Given the description of an element on the screen output the (x, y) to click on. 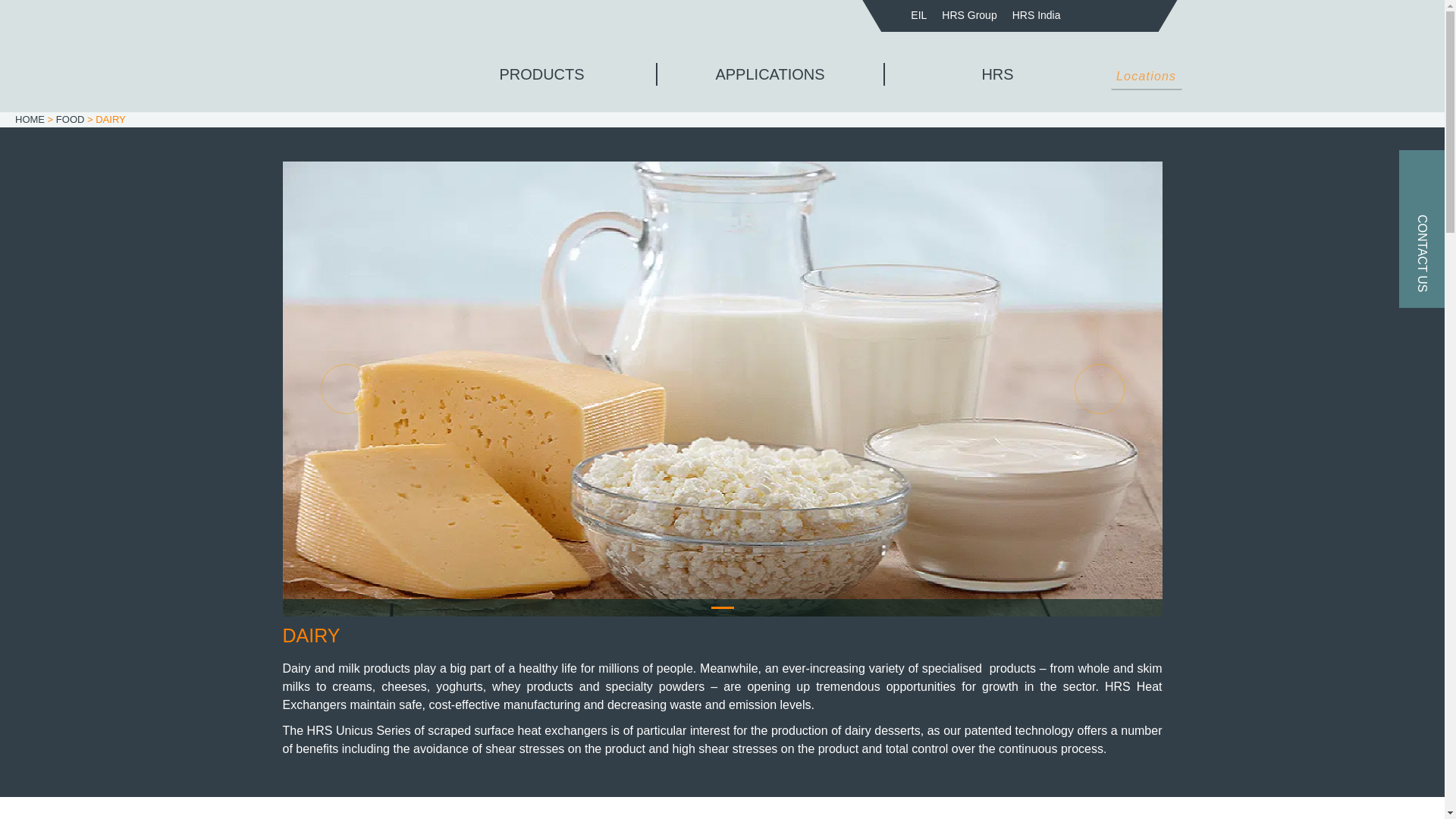
HRS India (1036, 15)
HRS Group (968, 15)
PRODUCTS (541, 74)
EIL (918, 15)
